Given the description of an element on the screen output the (x, y) to click on. 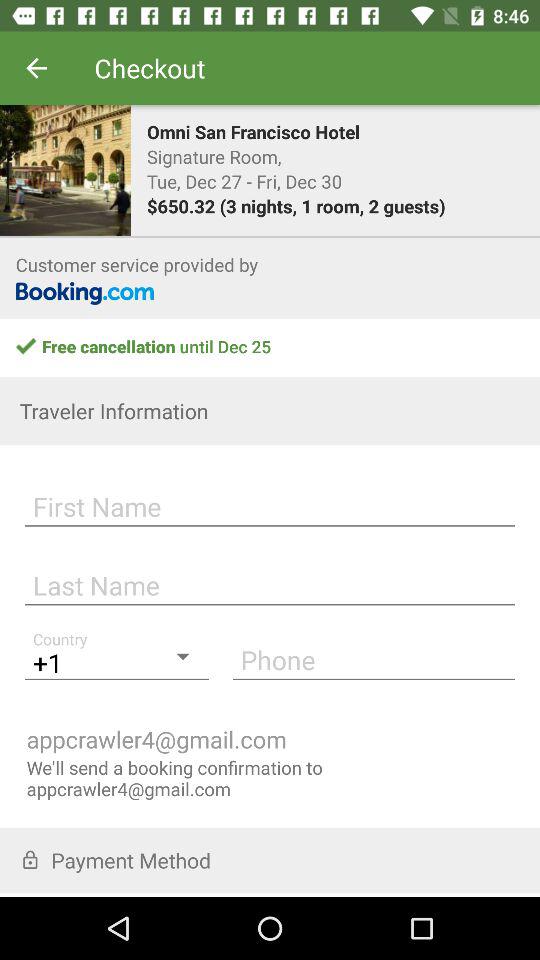
turn off item to the left of the checkout item (36, 68)
